Given the description of an element on the screen output the (x, y) to click on. 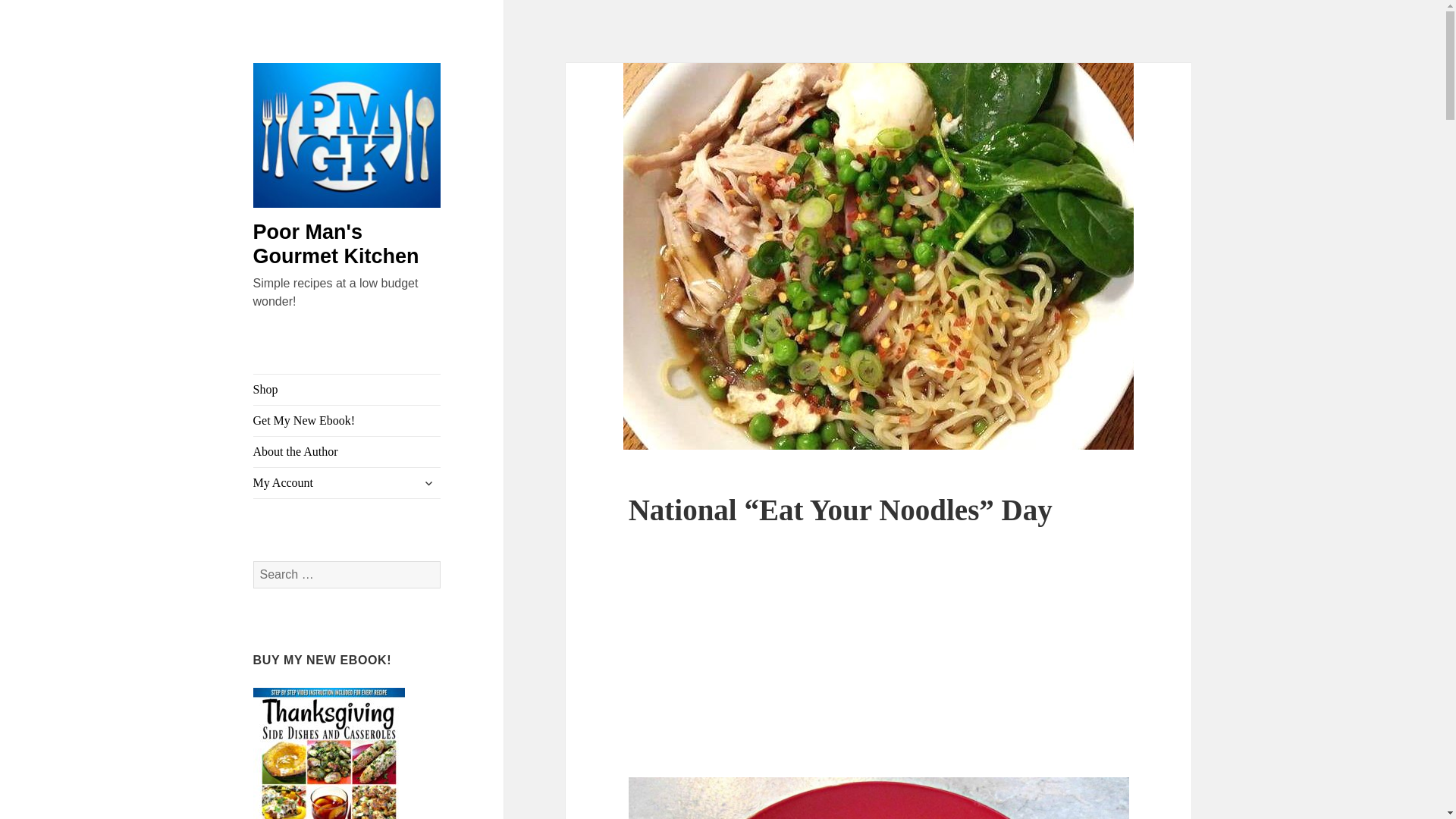
expand child menu (428, 482)
Advertisement (878, 671)
Poor Man's Gourmet Kitchen (336, 243)
Shop (347, 389)
About the Author (347, 451)
My Account (347, 482)
Get My New Ebook! (347, 420)
